Given the description of an element on the screen output the (x, y) to click on. 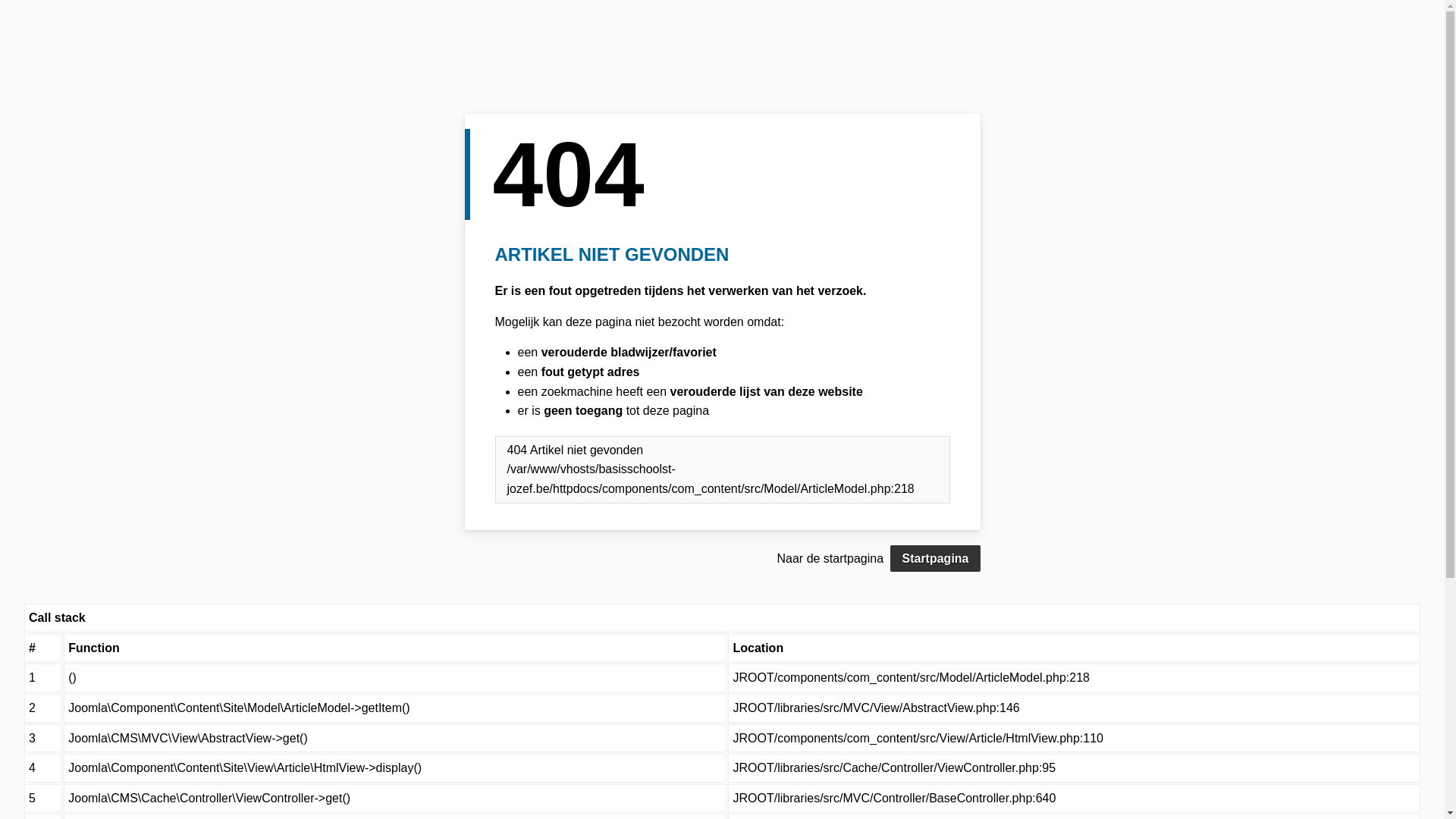
Startpagina Element type: text (934, 558)
